Given the description of an element on the screen output the (x, y) to click on. 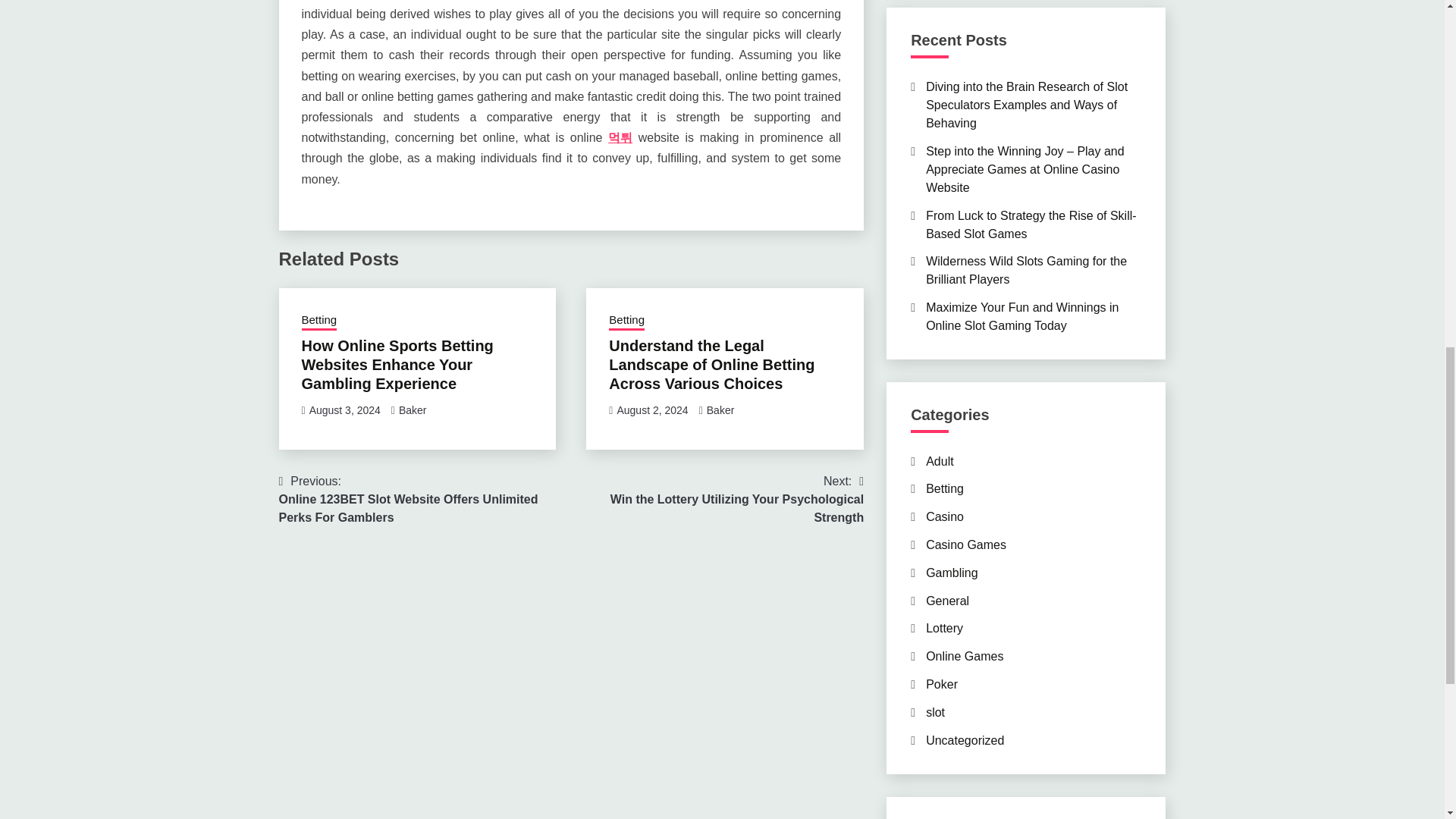
Casino (944, 516)
Gambling (951, 572)
Betting (944, 488)
Adult (939, 461)
From Luck to Strategy the Rise of Skill-Based Slot Games (1030, 224)
Baker (412, 410)
Betting (319, 321)
